Given the description of an element on the screen output the (x, y) to click on. 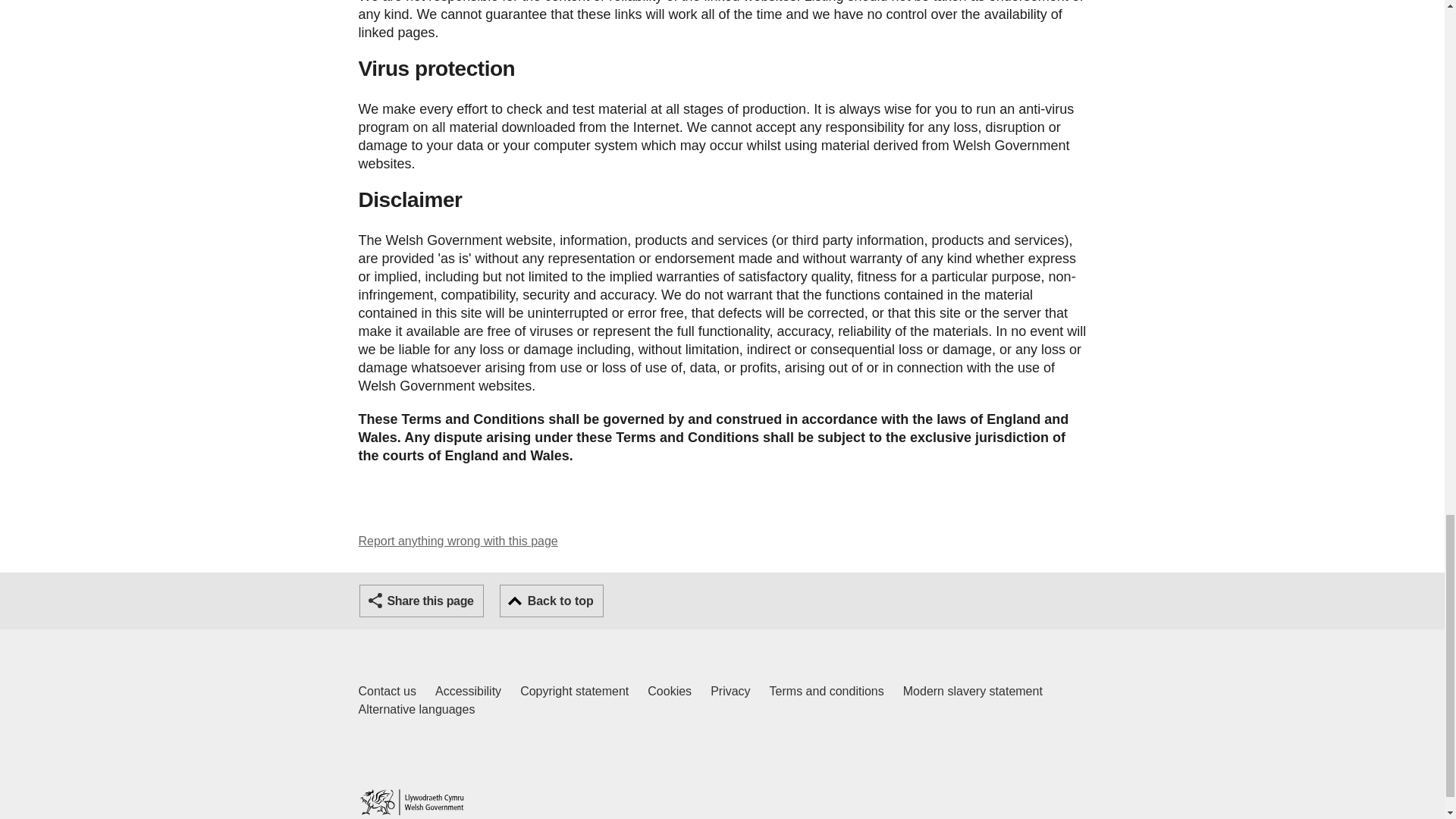
Terms and conditions (826, 691)
Report anything wrong with this page (457, 540)
Share this page (421, 600)
Cookies (669, 691)
Privacy (386, 691)
Accessibility (729, 691)
Back to top (467, 691)
Modern slavery statement (551, 600)
Copyright statement (972, 691)
